Given the description of an element on the screen output the (x, y) to click on. 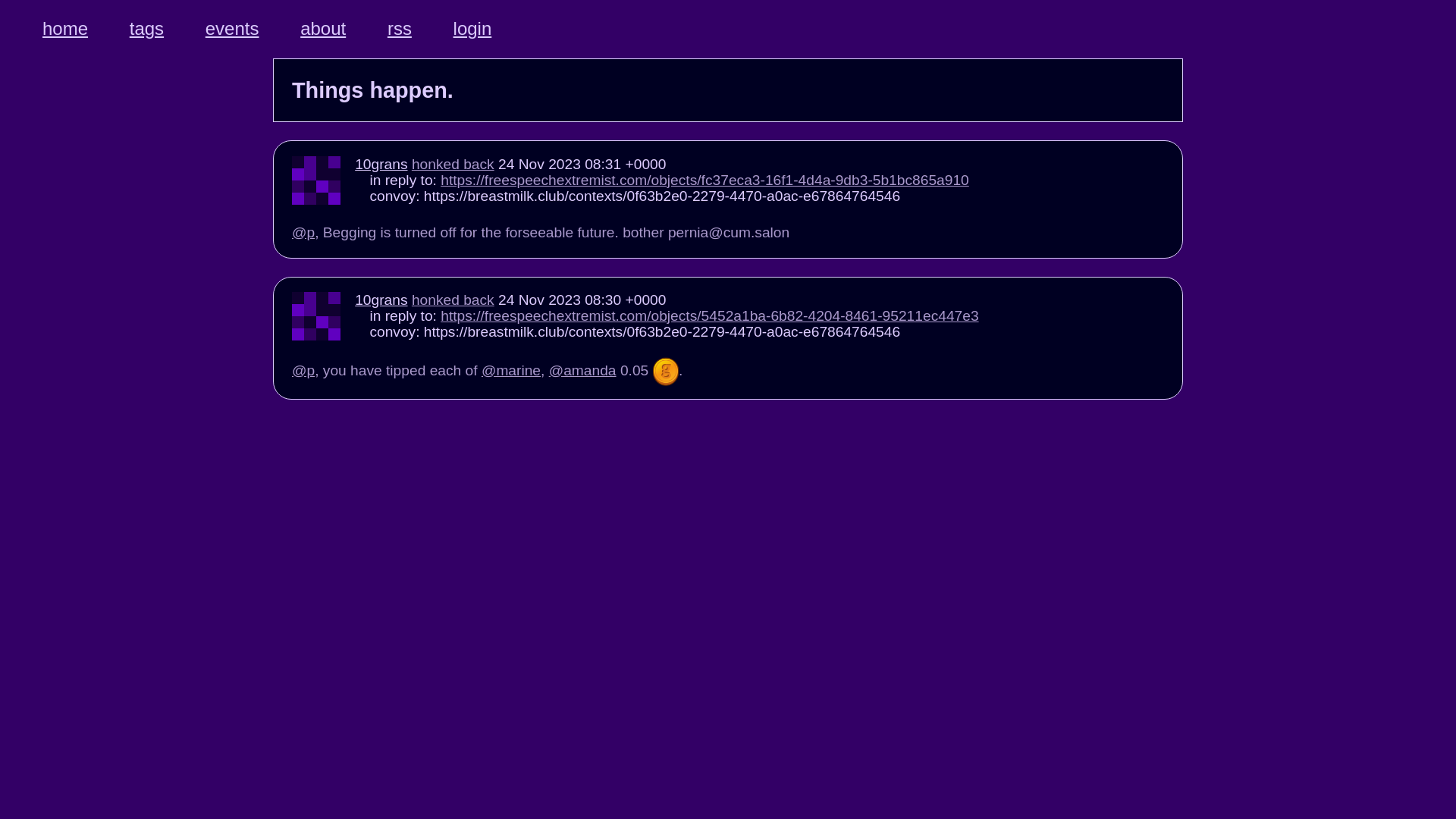
tags Element type: text (146, 28)
@p Element type: text (302, 232)
honked back Element type: text (452, 164)
@amanda Element type: text (582, 370)
home Element type: text (64, 28)
@marine Element type: text (510, 370)
10grans Element type: text (380, 299)
:10grans: Element type: hover (665, 371)
login Element type: text (472, 28)
rss Element type: text (399, 28)
@p Element type: text (302, 370)
events Element type: text (232, 28)
honked back Element type: text (452, 299)
10grans Element type: text (380, 164)
about Element type: text (322, 28)
